Given the description of an element on the screen output the (x, y) to click on. 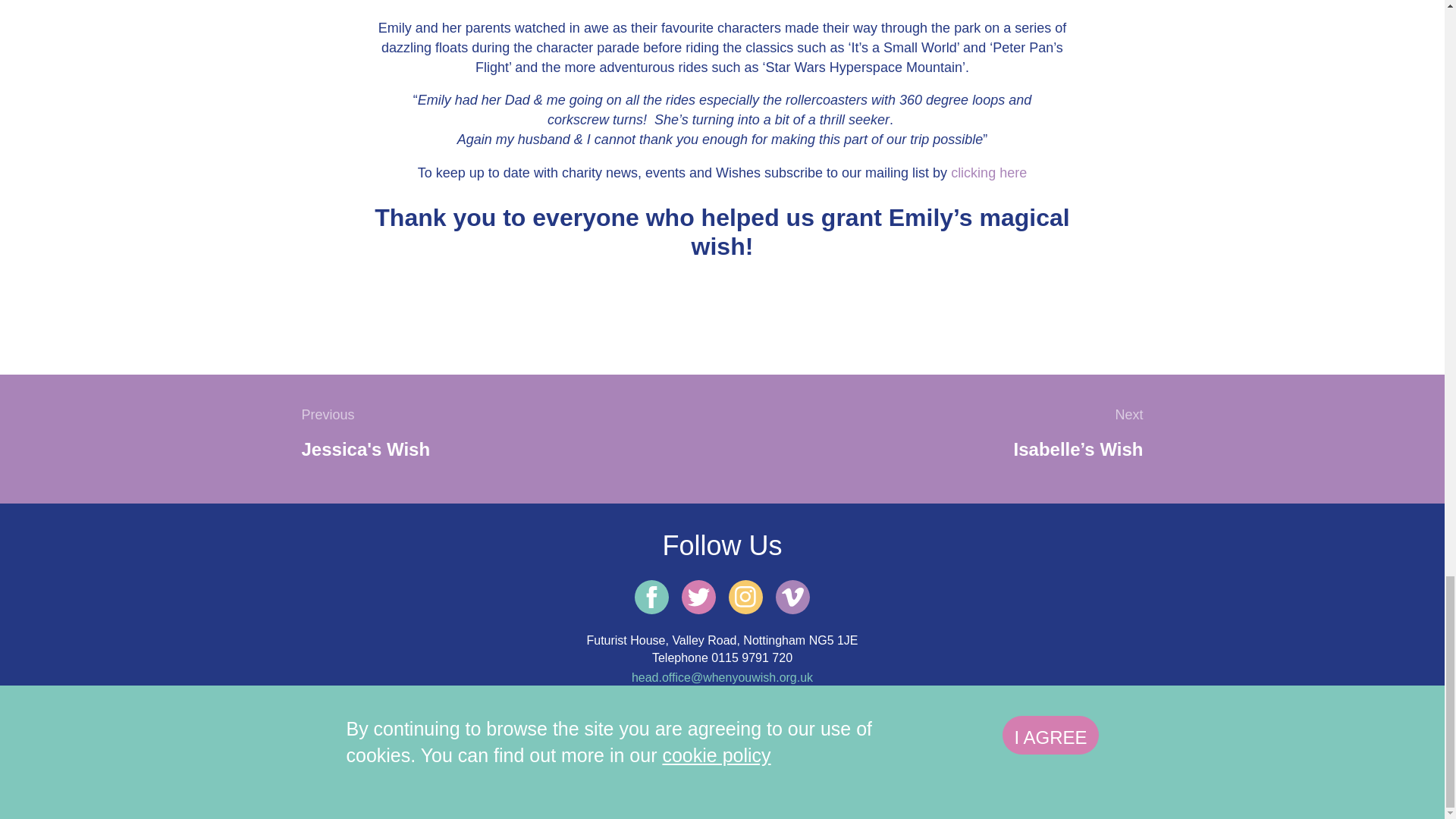
clicking here (988, 171)
Jessica's Wish (365, 448)
Previous (328, 415)
